Given the description of an element on the screen output the (x, y) to click on. 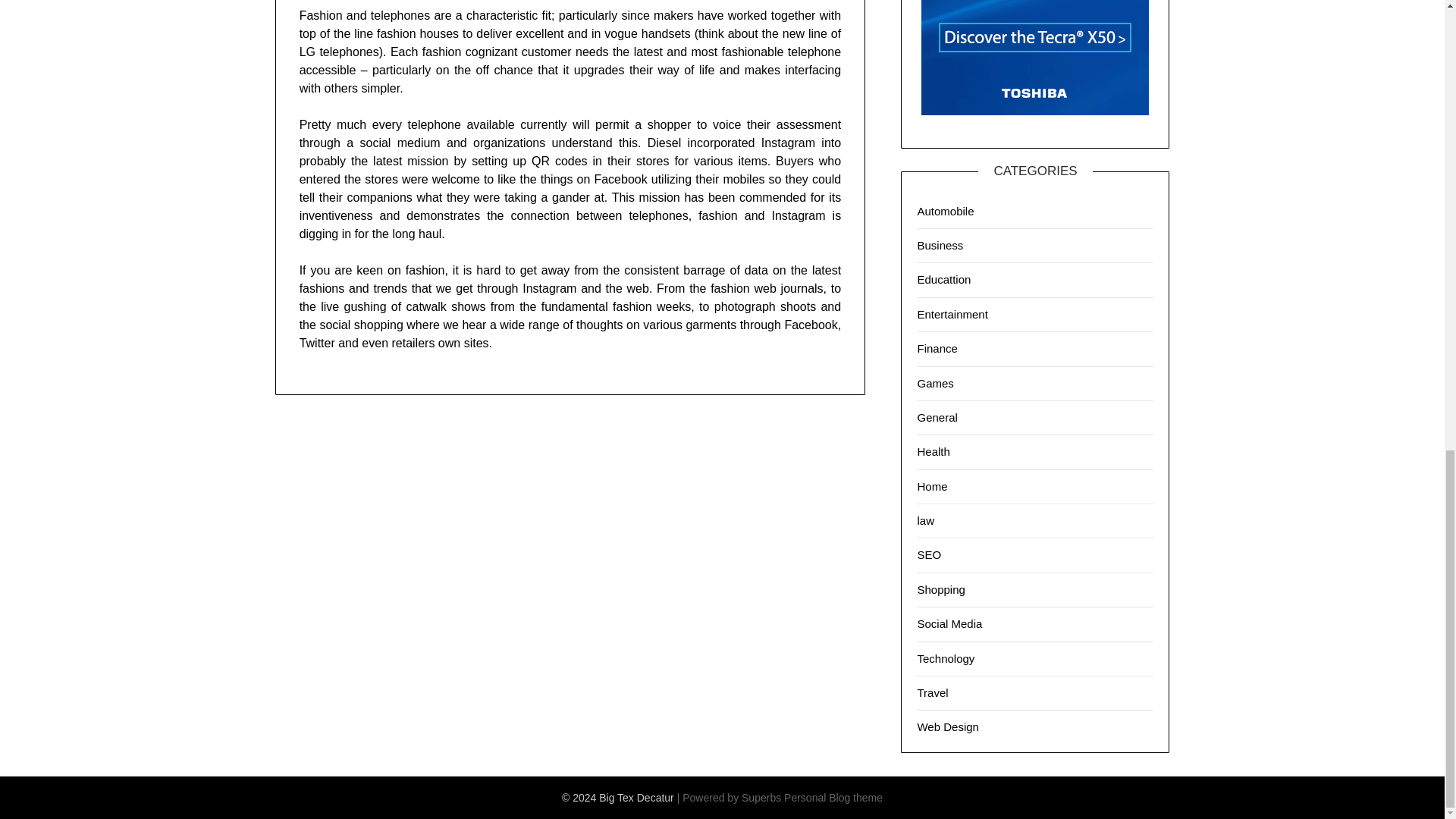
Finance (936, 348)
Business (939, 245)
Shopping (940, 589)
Technology (945, 658)
Personal Blog theme (833, 797)
Health (933, 451)
Web Design (947, 726)
Automobile (945, 210)
SEO (928, 554)
Games (935, 382)
law (925, 520)
Educattion (944, 278)
Entertainment (952, 314)
Social Media (949, 623)
General (936, 417)
